Given the description of an element on the screen output the (x, y) to click on. 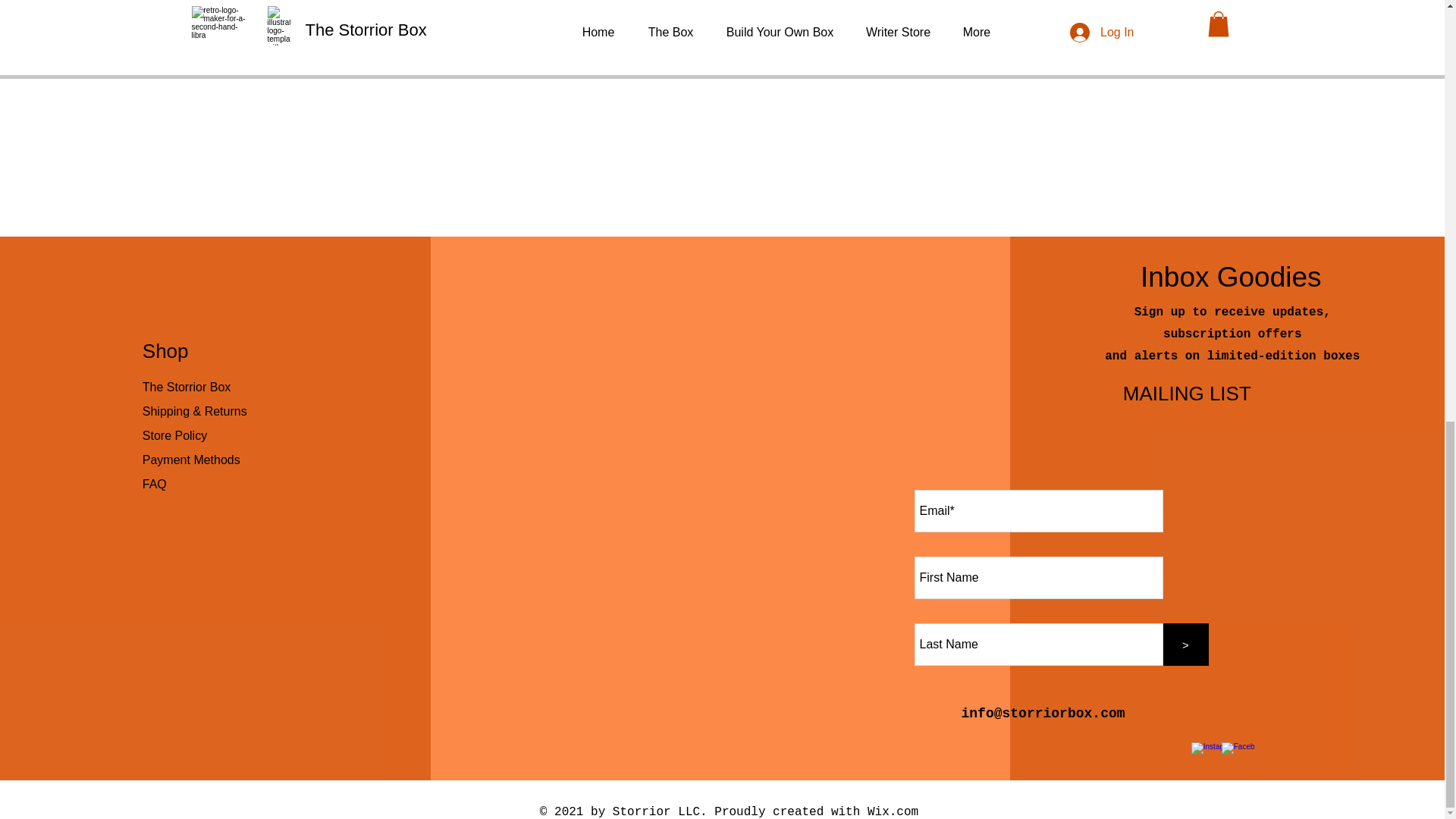
FAQ (154, 483)
Payment Methods  (192, 459)
Store Policy (174, 435)
The Storrior Box (186, 386)
